Given the description of an element on the screen output the (x, y) to click on. 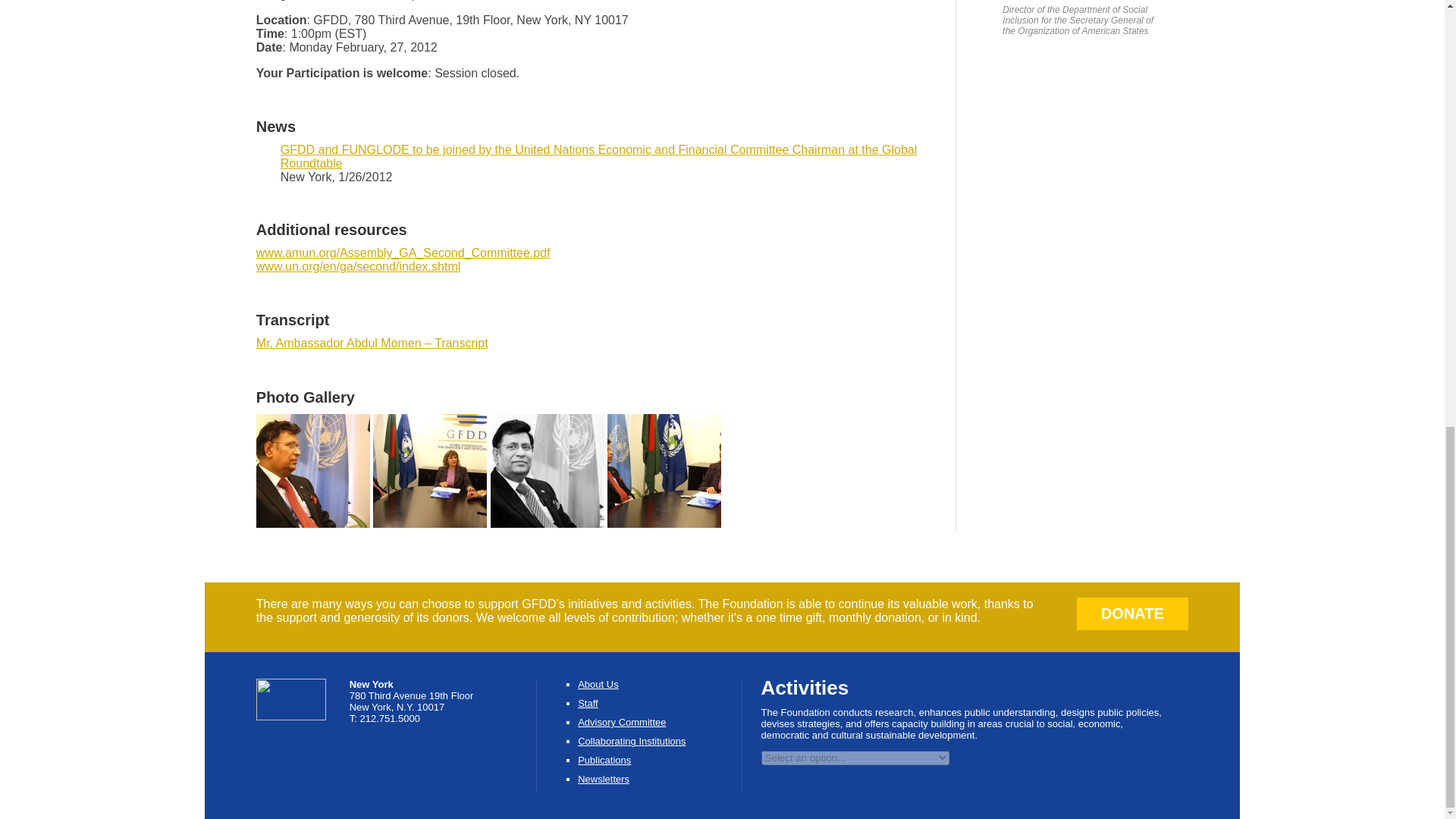
About Us (597, 684)
DONATE (1133, 613)
Staff (588, 703)
